Given the description of an element on the screen output the (x, y) to click on. 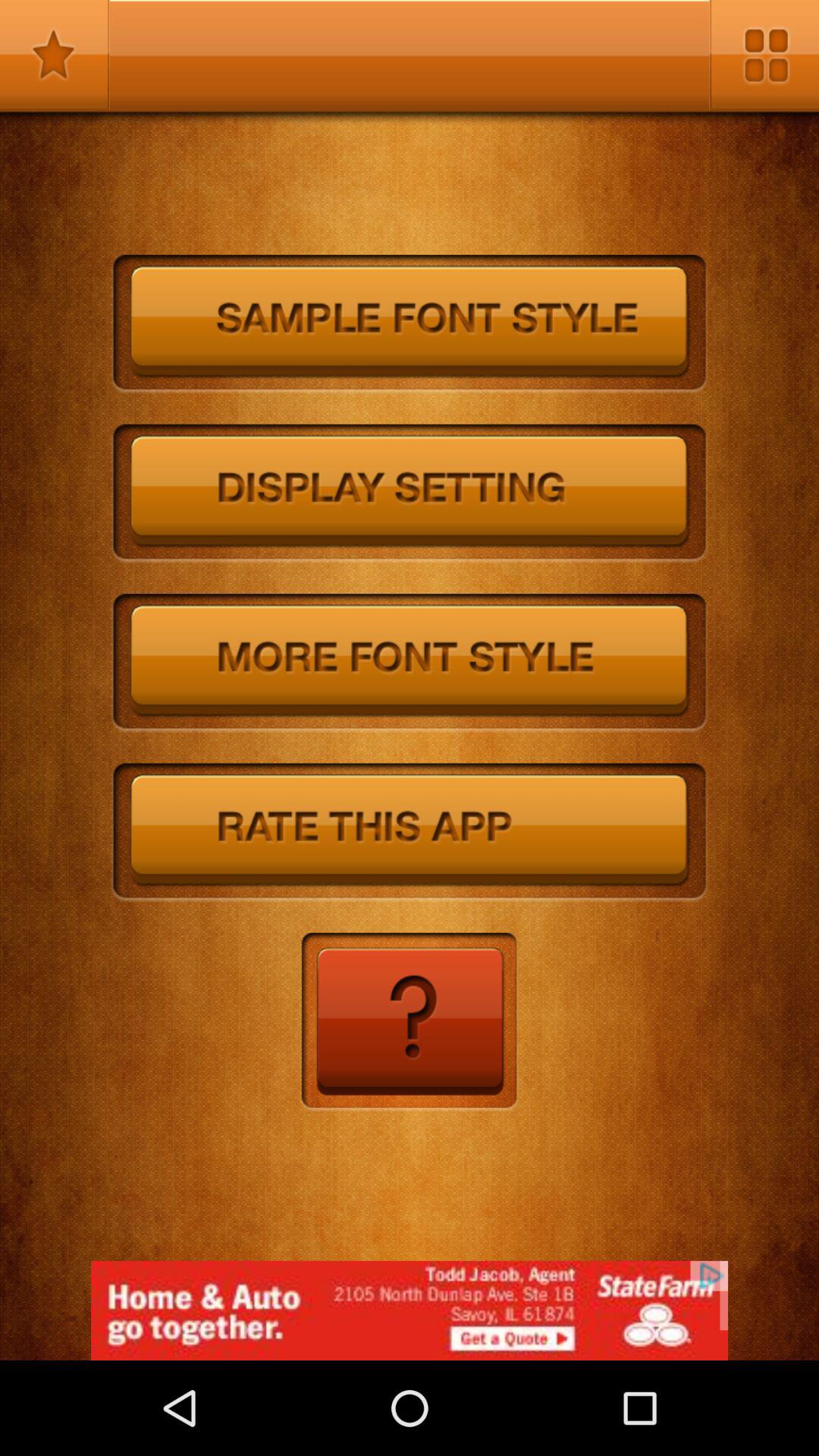
click to the sample font style (409, 324)
